Given the description of an element on the screen output the (x, y) to click on. 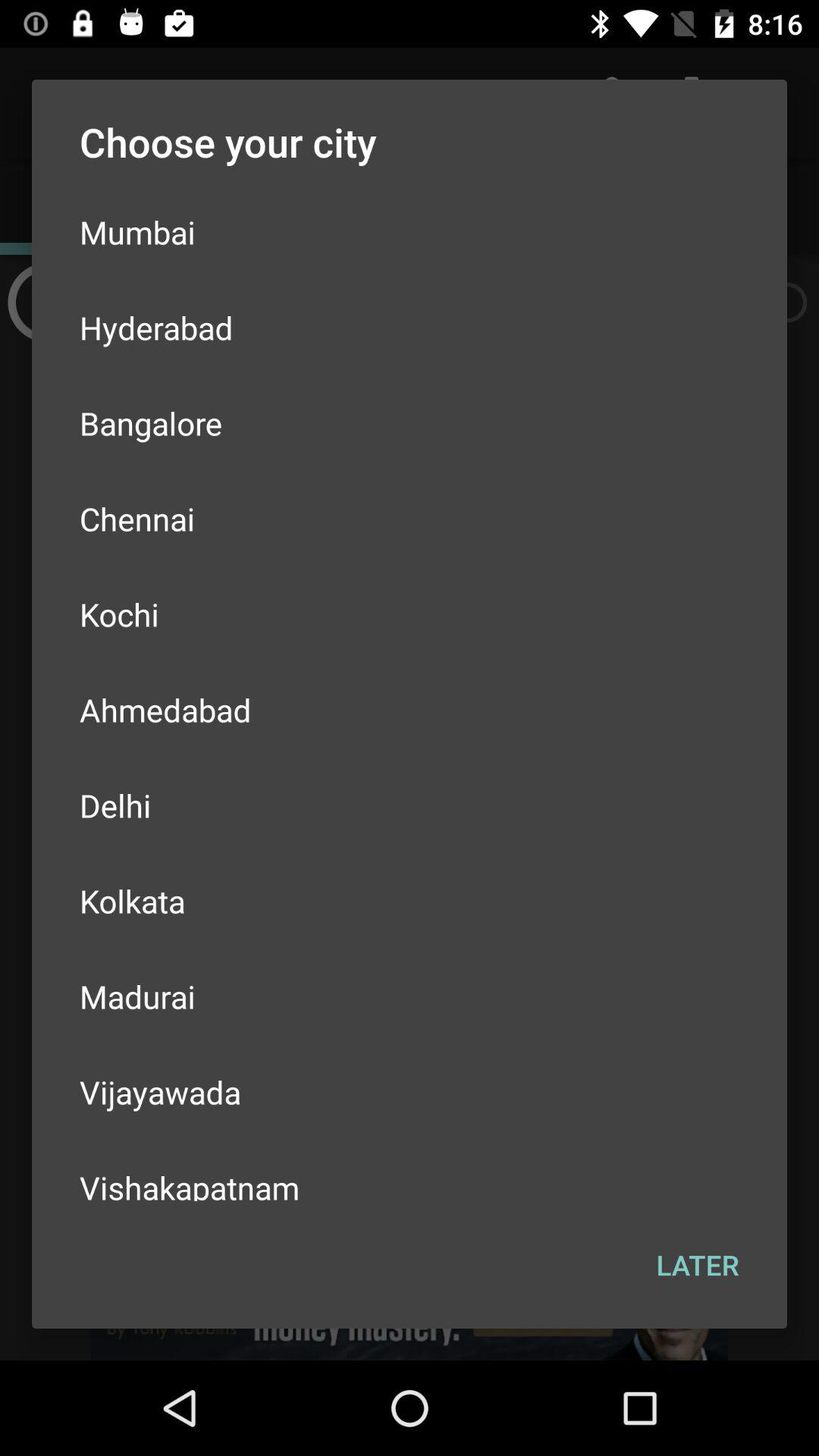
press the icon above ahmedabad icon (409, 614)
